Given the description of an element on the screen output the (x, y) to click on. 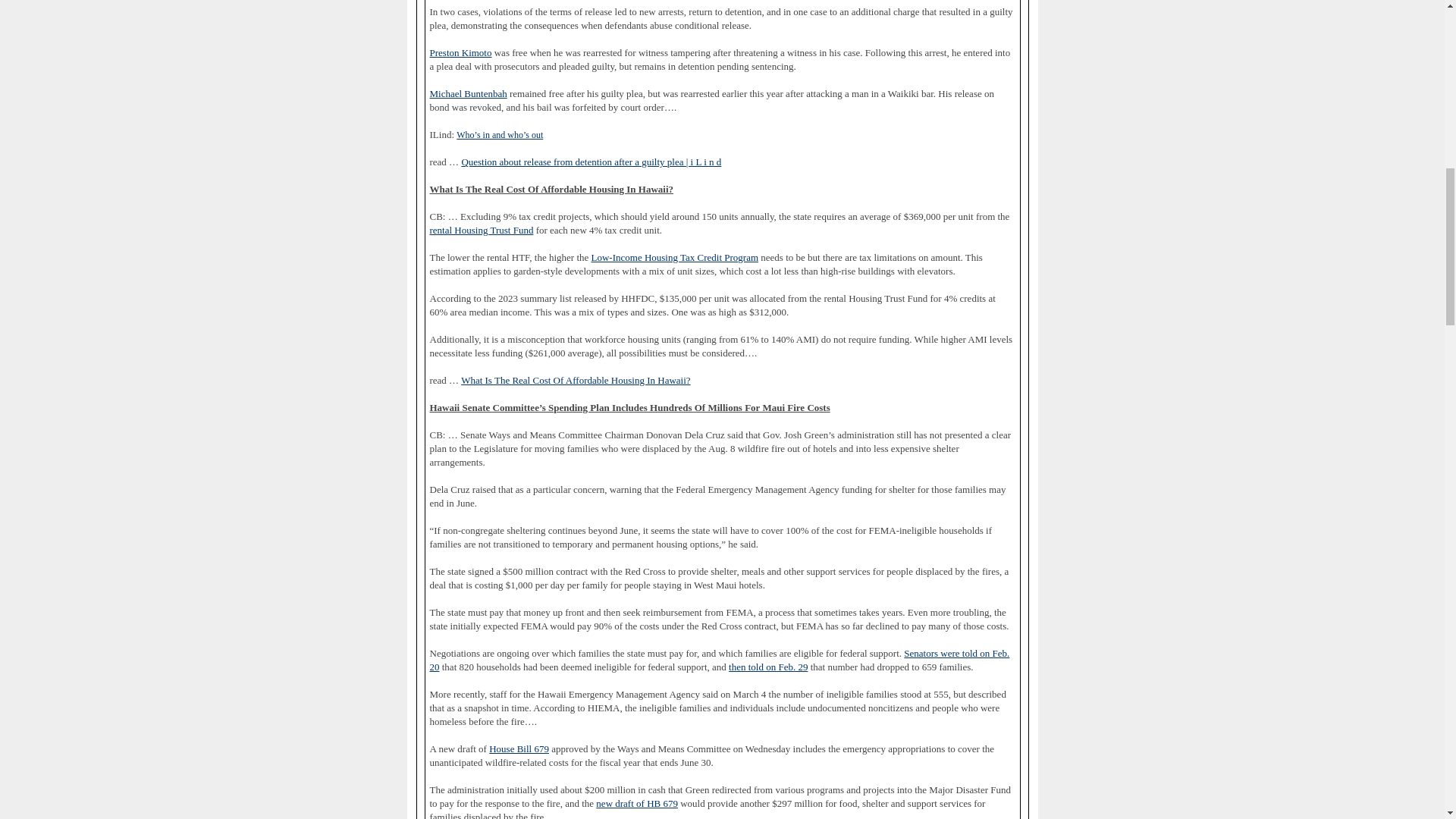
What Is The Real Cost Of Affordable Housing In Hawaii? (575, 380)
Michael Buntenbah (467, 93)
Low-Income Housing Tax Credit Program (674, 257)
new draft of HB 679 (636, 803)
House Bill 679 (518, 748)
then told on Feb. 29 (768, 666)
rental Housing Trust Fund (480, 230)
Preston Kimoto (460, 52)
Senators were told on Feb. 20 (719, 660)
